Given the description of an element on the screen output the (x, y) to click on. 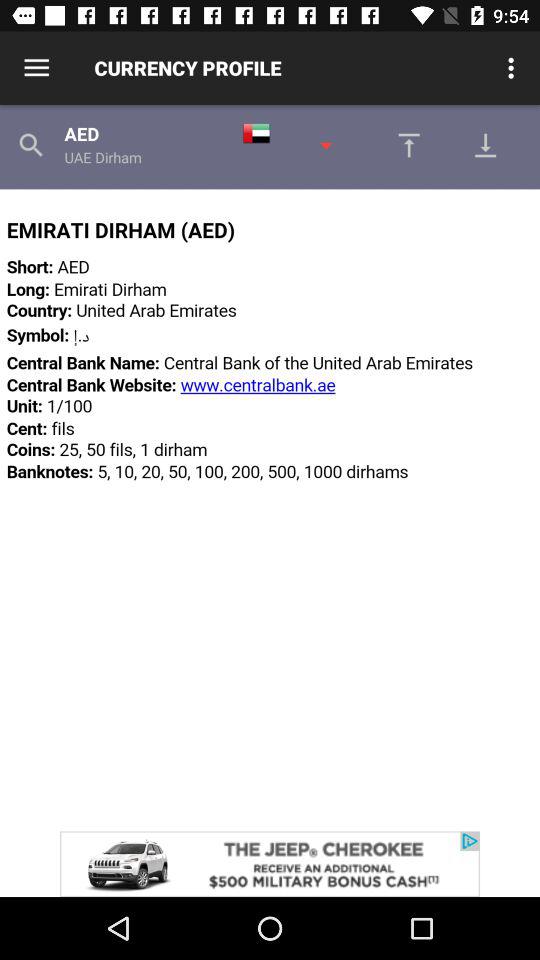
download (491, 145)
